Given the description of an element on the screen output the (x, y) to click on. 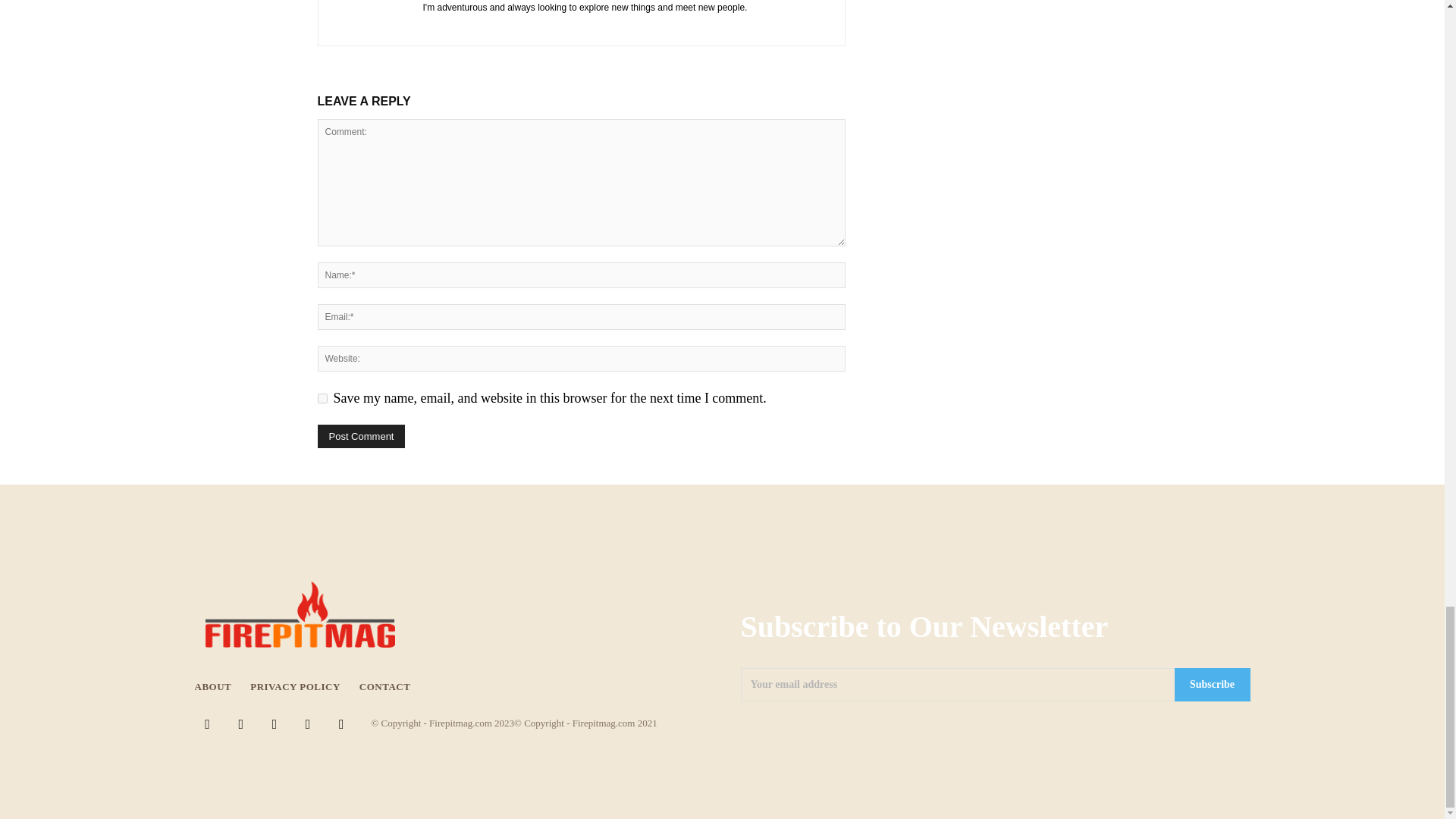
yes (321, 398)
Post Comment (360, 436)
Post Comment (360, 436)
